Given the description of an element on the screen output the (x, y) to click on. 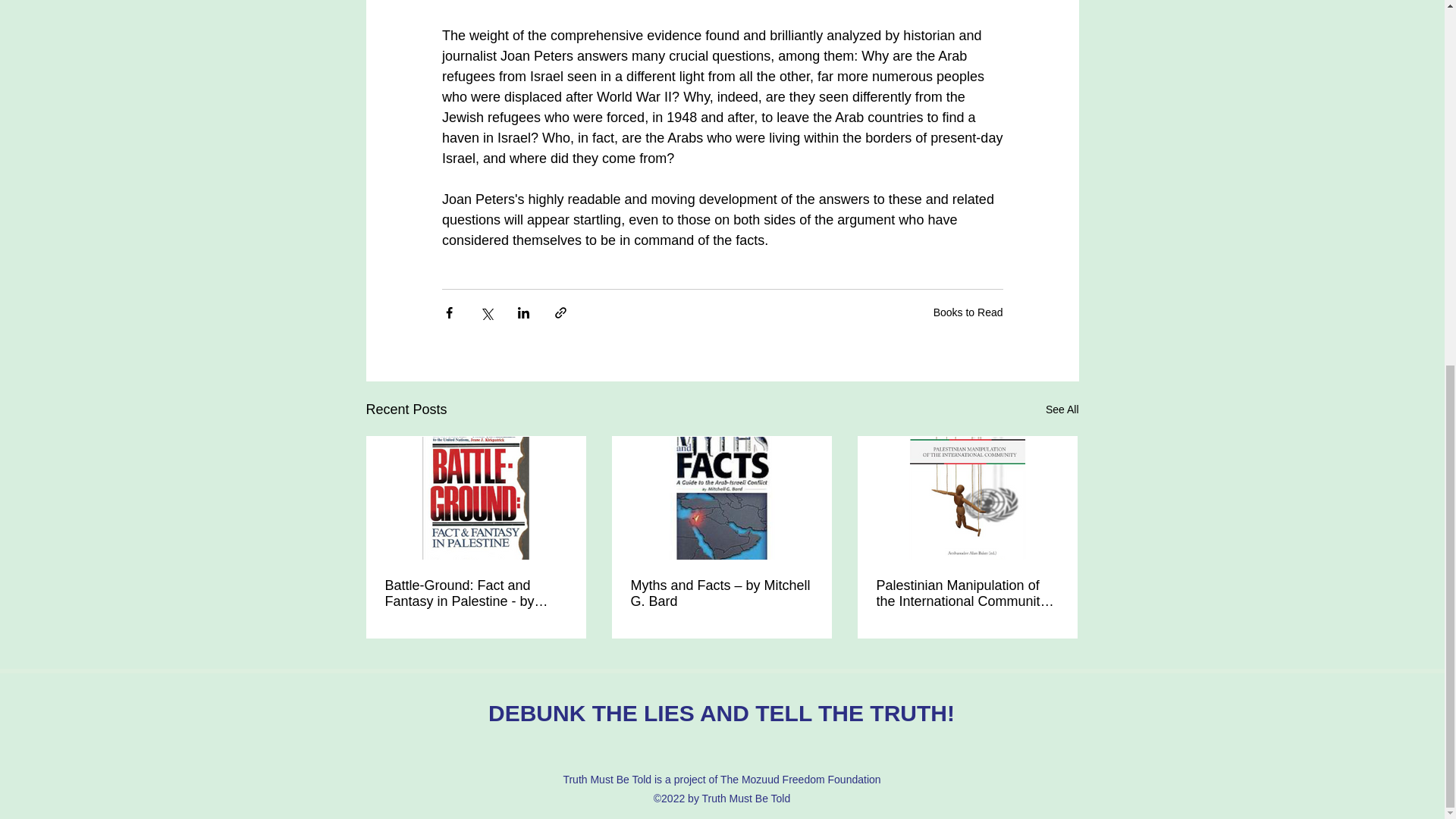
Books to Read (968, 312)
See All (1061, 409)
